Given the description of an element on the screen output the (x, y) to click on. 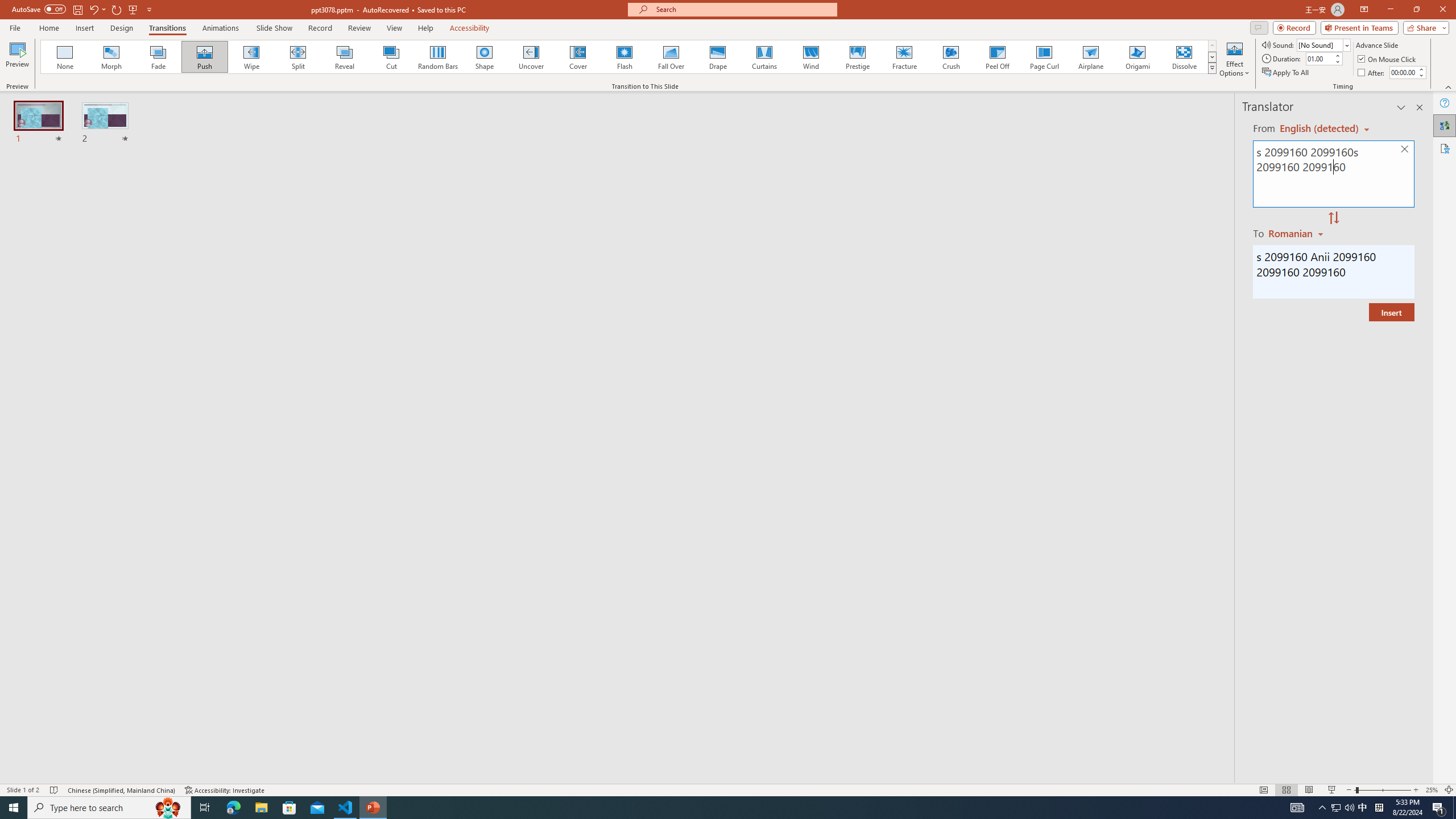
Push (205, 56)
Morph (111, 56)
Apply To All (1286, 72)
Wind (810, 56)
